Given the description of an element on the screen output the (x, y) to click on. 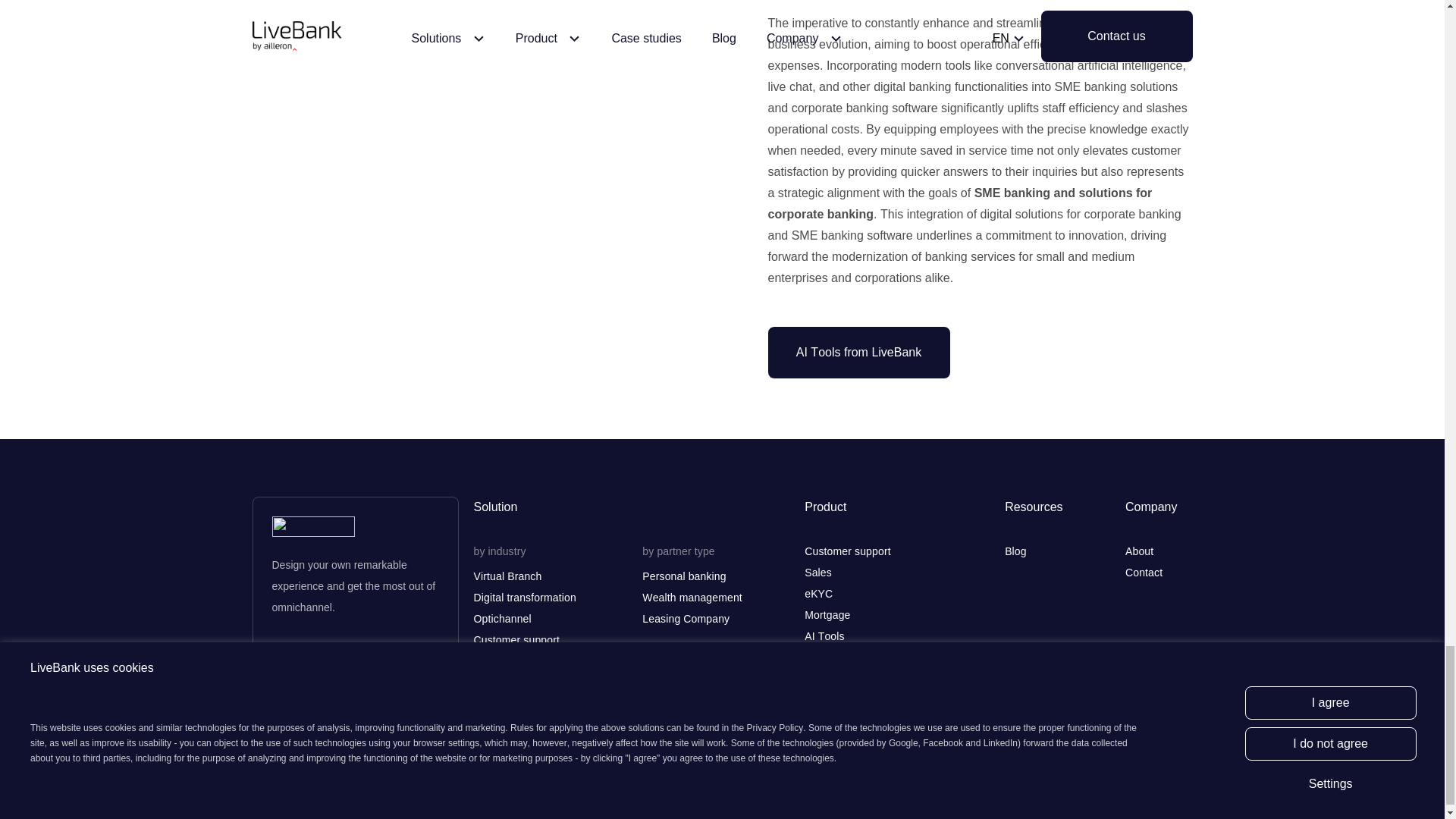
Ailleron (398, 800)
